Given the description of an element on the screen output the (x, y) to click on. 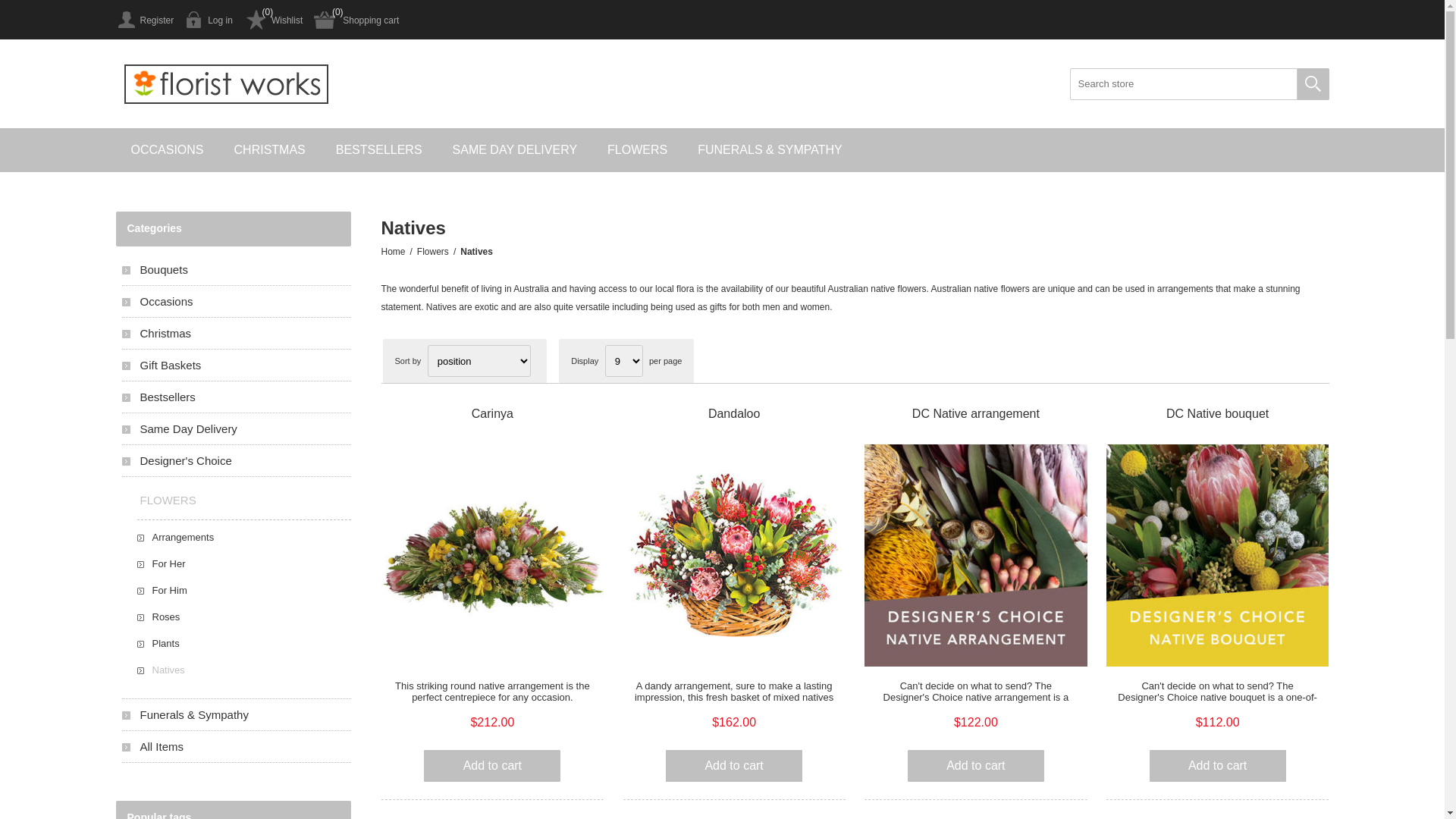
Add to cart Element type: text (975, 765)
Arrangements Element type: text (243, 537)
BESTSELLERS Element type: text (378, 150)
Dandaloo Element type: text (734, 413)
Christmas Element type: text (235, 332)
Search Element type: text (1312, 84)
Register Element type: text (144, 19)
Roses Element type: text (243, 616)
FLOWERS Element type: text (235, 499)
Natives Element type: text (243, 669)
Show details for DC Native arrangement Element type: hover (975, 555)
Shopping cart Element type: text (355, 19)
Same Day Delivery Element type: text (235, 428)
Show details for Dandaloo Element type: hover (734, 555)
DC Native arrangement Element type: text (975, 413)
For Him Element type: text (243, 590)
Carinya Element type: text (492, 413)
For Her Element type: text (243, 563)
FLOWERS Element type: text (637, 150)
Bestsellers Element type: text (235, 396)
Home Element type: text (392, 251)
OCCASIONS Element type: text (166, 150)
Designer's Choice Element type: text (235, 460)
Wishlist Element type: text (273, 19)
Flowers Element type: text (432, 251)
All Items Element type: text (235, 746)
Funerals & Sympathy Element type: text (235, 714)
Add to cart Element type: text (491, 765)
Show details for Carinya Element type: hover (492, 555)
Occasions Element type: text (235, 300)
CHRISTMAS Element type: text (269, 150)
DC Native bouquet Element type: text (1217, 413)
Show details for DC Native bouquet Element type: hover (1217, 555)
Gift Baskets Element type: text (235, 364)
Bouquets Element type: text (235, 269)
Add to cart Element type: text (733, 765)
FUNERALS & SYMPATHY Element type: text (769, 150)
Log in Element type: text (208, 19)
Plants Element type: text (243, 643)
Add to cart Element type: text (1217, 765)
SAME DAY DELIVERY Element type: text (515, 150)
